Given the description of an element on the screen output the (x, y) to click on. 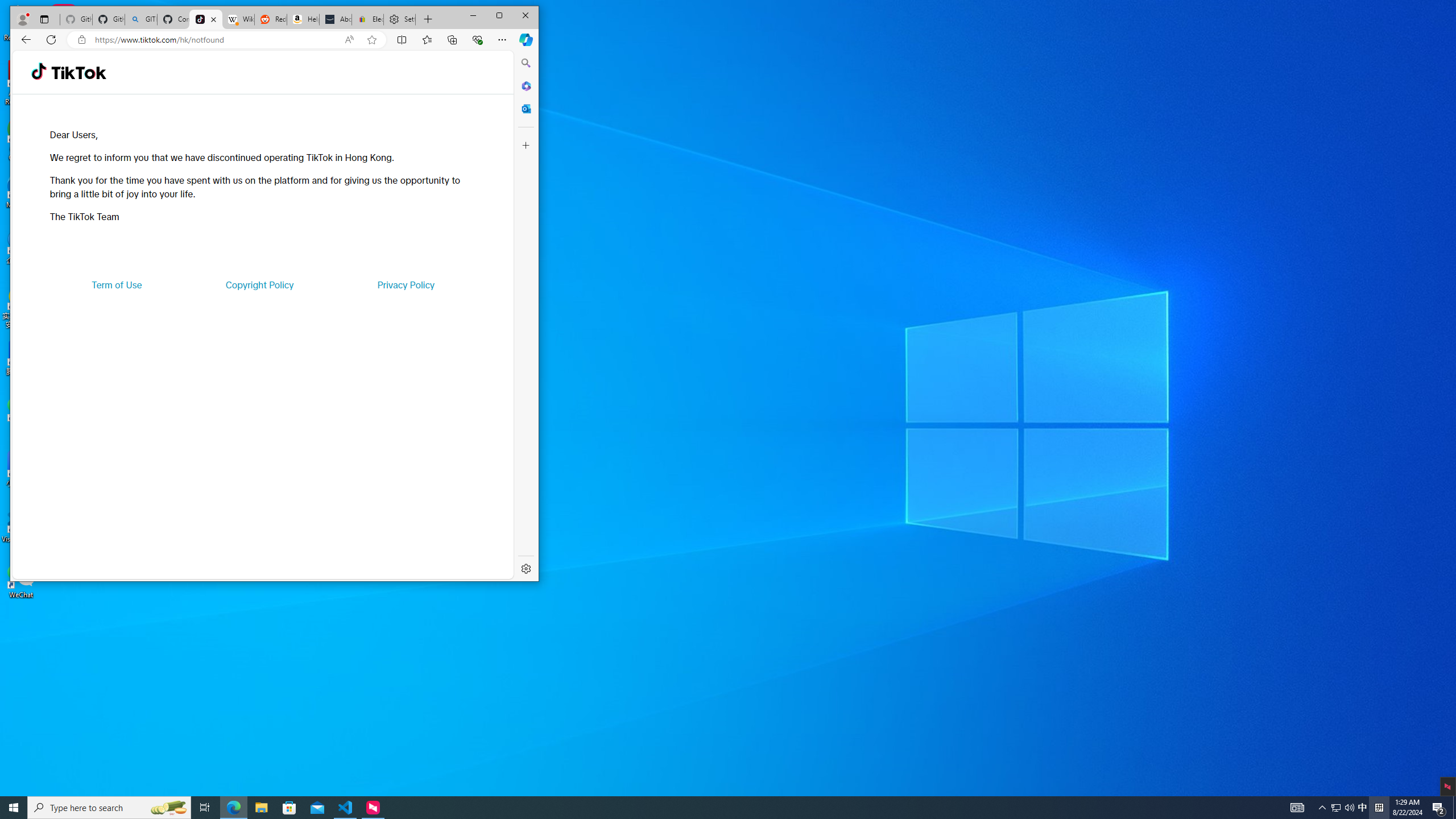
Microsoft Store (289, 807)
Search highlights icon opens search home window (167, 807)
User Promoted Notification Area (1342, 807)
Notification Chevron (1322, 807)
Side bar (525, 315)
Running applications (707, 807)
Type here to search (108, 807)
Task View (204, 807)
